Given the description of an element on the screen output the (x, y) to click on. 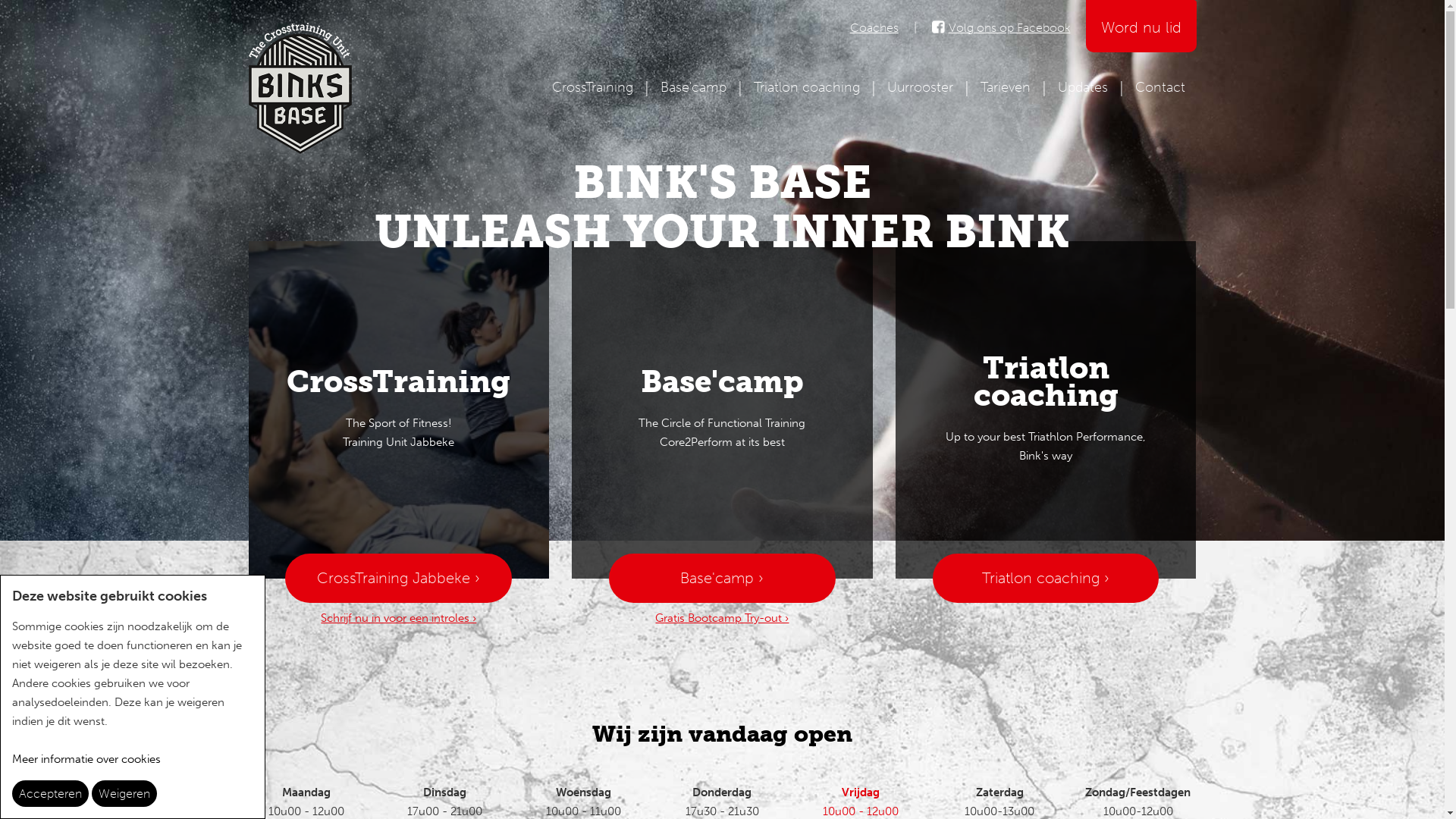
Meer informatie over cookies Element type: text (86, 758)
Weigeren Element type: text (123, 793)
Base'camp Element type: text (692, 86)
Volg ons op Facebook Element type: text (1012, 22)
Updates Element type: text (1082, 86)
Accepteren Element type: text (50, 793)
Word nu lid Element type: text (1140, 26)
Contact Element type: text (1159, 86)
Triatlon coaching Element type: text (806, 86)
Uurrooster Element type: text (920, 86)
CrossTraining Element type: text (592, 86)
Tarieven Element type: text (1004, 86)
Coaches Element type: text (873, 22)
